Given the description of an element on the screen output the (x, y) to click on. 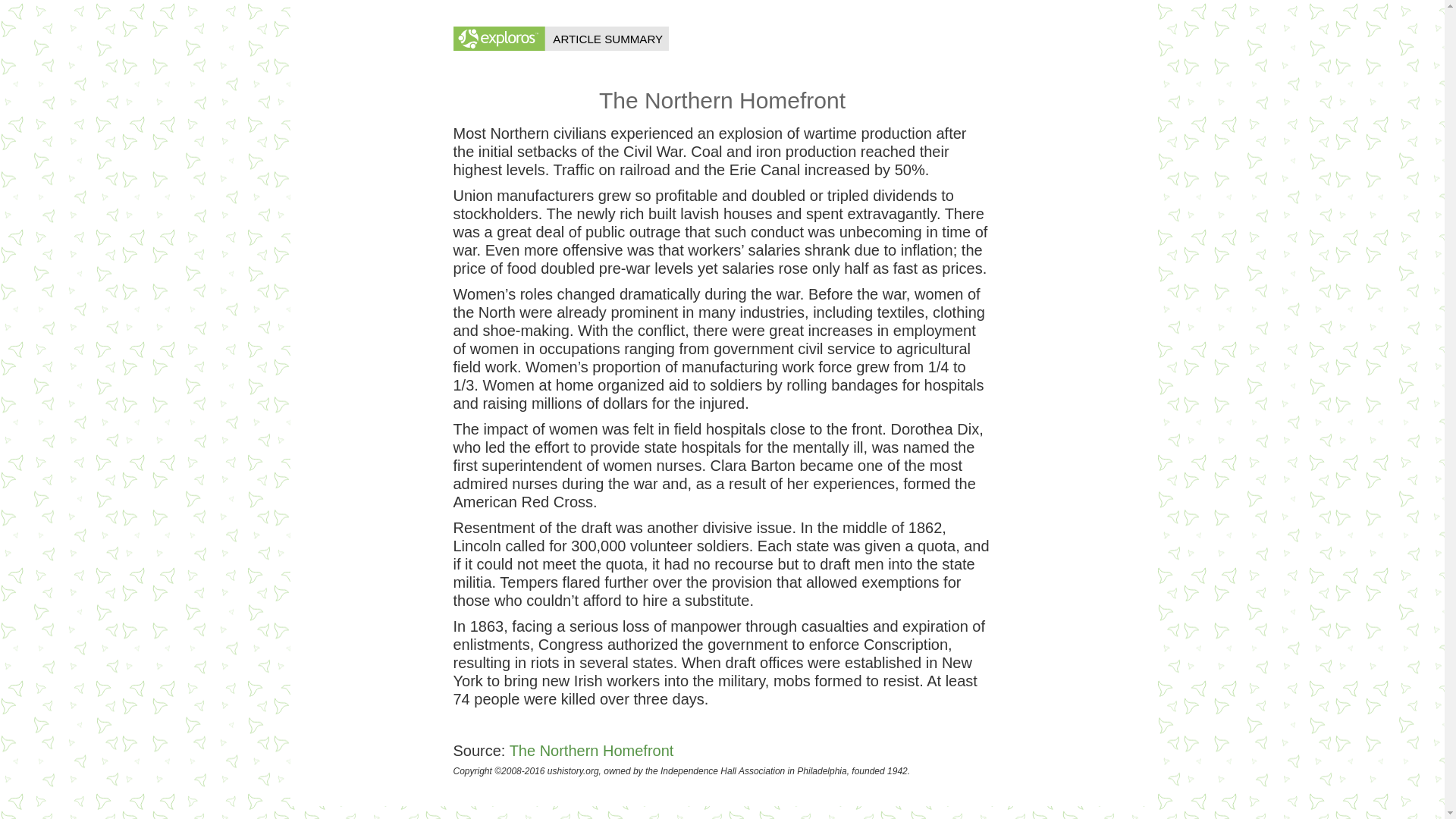
The Northern Homefront (591, 750)
